Given the description of an element on the screen output the (x, y) to click on. 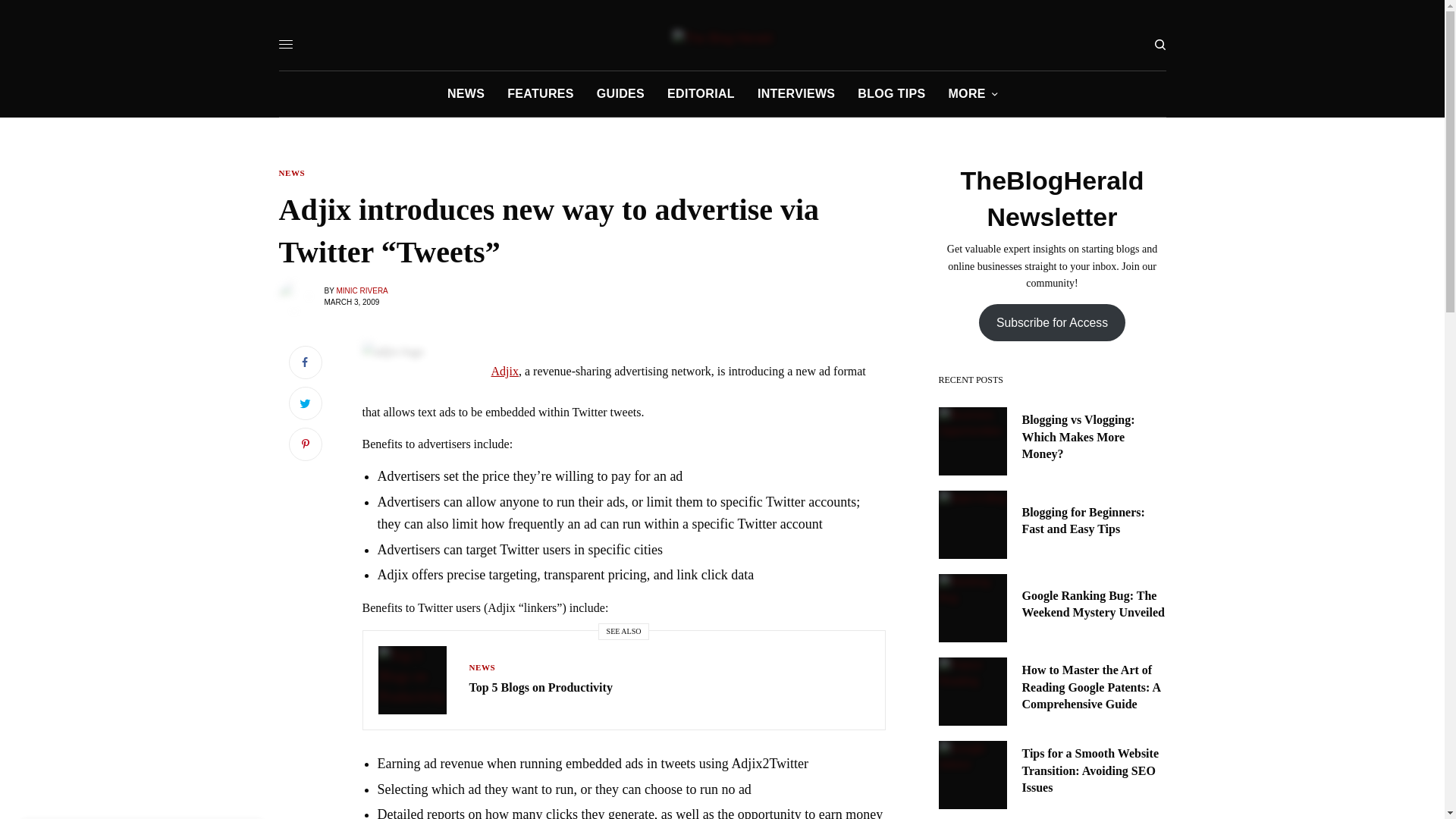
Blogging vs Vlogging: Which Makes More Money? (1094, 436)
Top 5 Blogs on Productivity (539, 687)
EDITORIAL (700, 94)
Blogging vs Vlogging: Which Makes More Money? (1094, 436)
Tips for a Smooth Website Transition: Avoiding SEO Issues (1094, 770)
NEWS (481, 666)
Posts by Minic Rivera (361, 290)
MINIC RIVERA (361, 290)
Blogging for Beginners: Fast and Easy Tips (1094, 521)
FEATURES (539, 94)
Adjix (505, 370)
MORE (972, 94)
Subscribe for Access (1051, 322)
INTERVIEWS (795, 94)
